Given the description of an element on the screen output the (x, y) to click on. 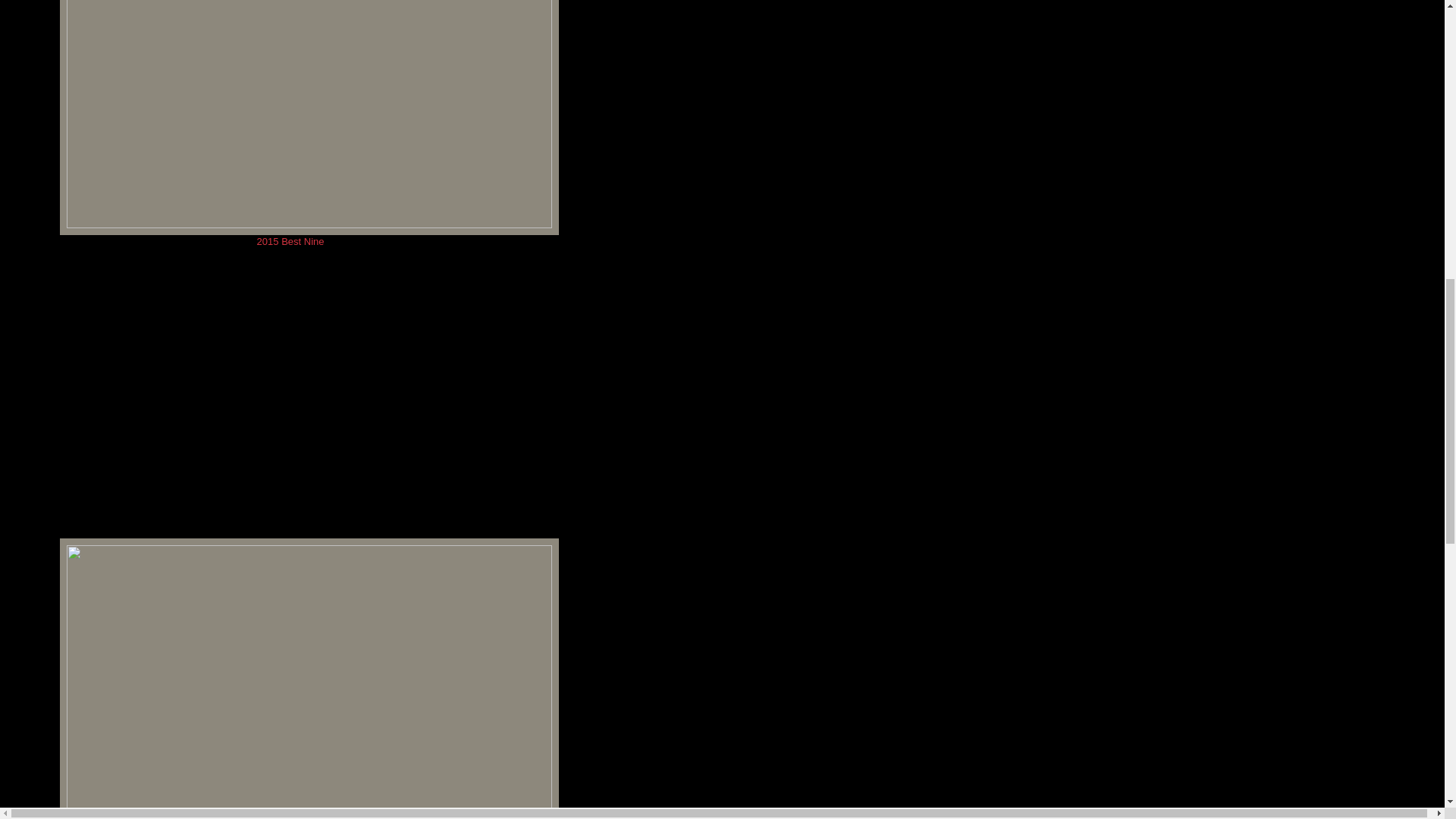
2015 Best Nine (290, 241)
